Given the description of an element on the screen output the (x, y) to click on. 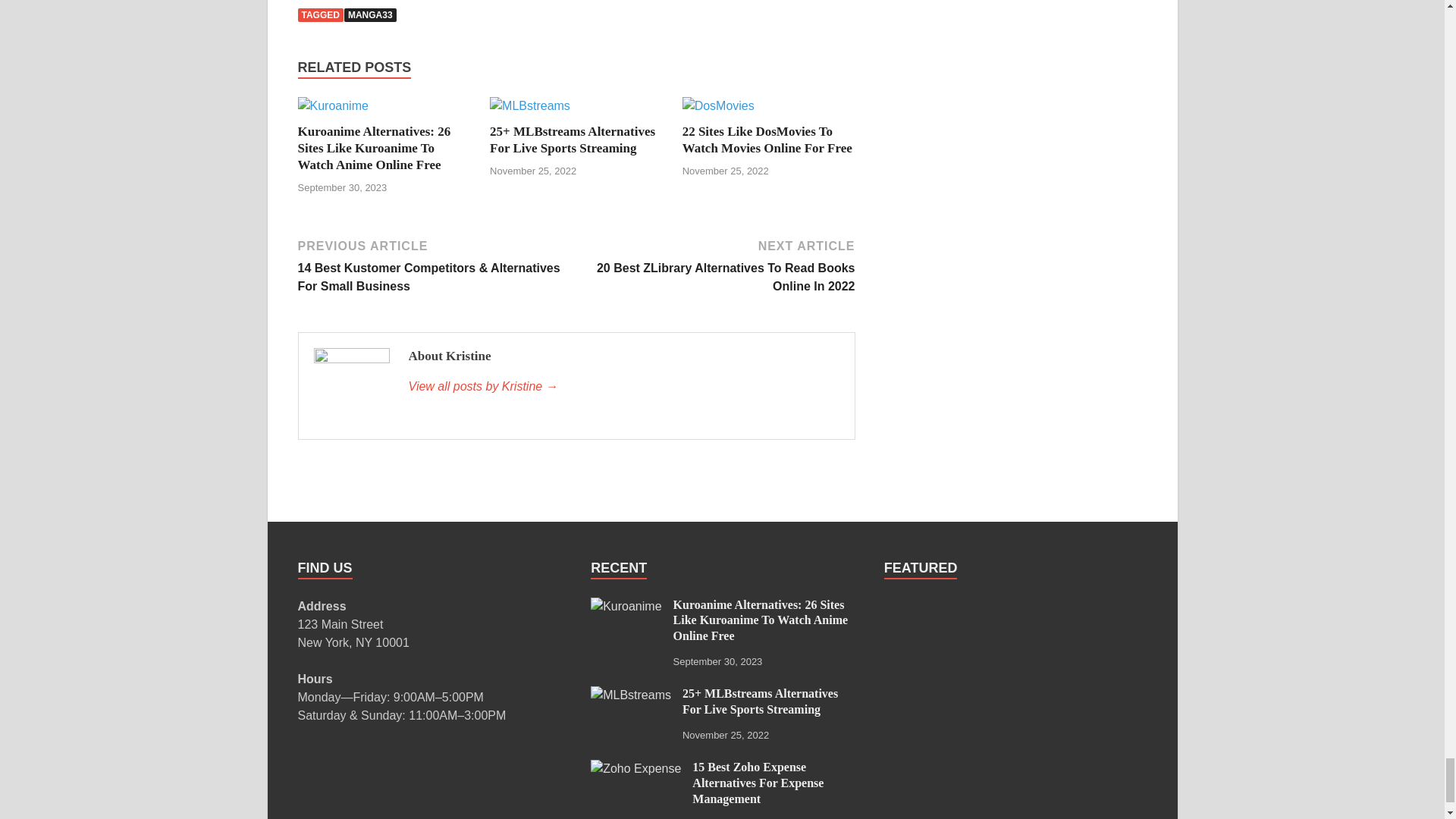
22 Sites Like DosMovies To Watch Movies Online For Free (718, 105)
15 Best Zoho Expense Alternatives For Expense Management (636, 768)
Kristine (622, 386)
22 Sites Like DosMovies To Watch Movies Online For Free (766, 139)
